Given the description of an element on the screen output the (x, y) to click on. 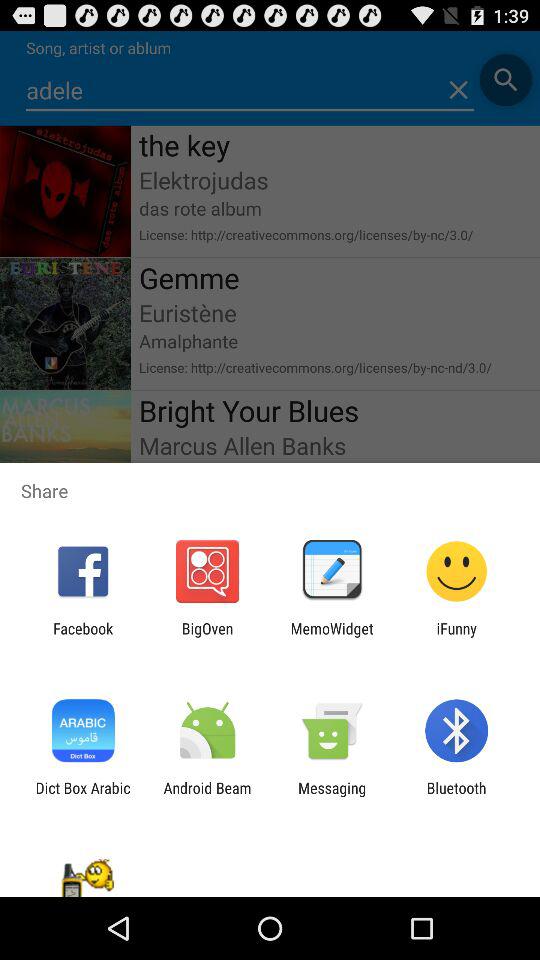
press the ifunny (456, 637)
